Given the description of an element on the screen output the (x, y) to click on. 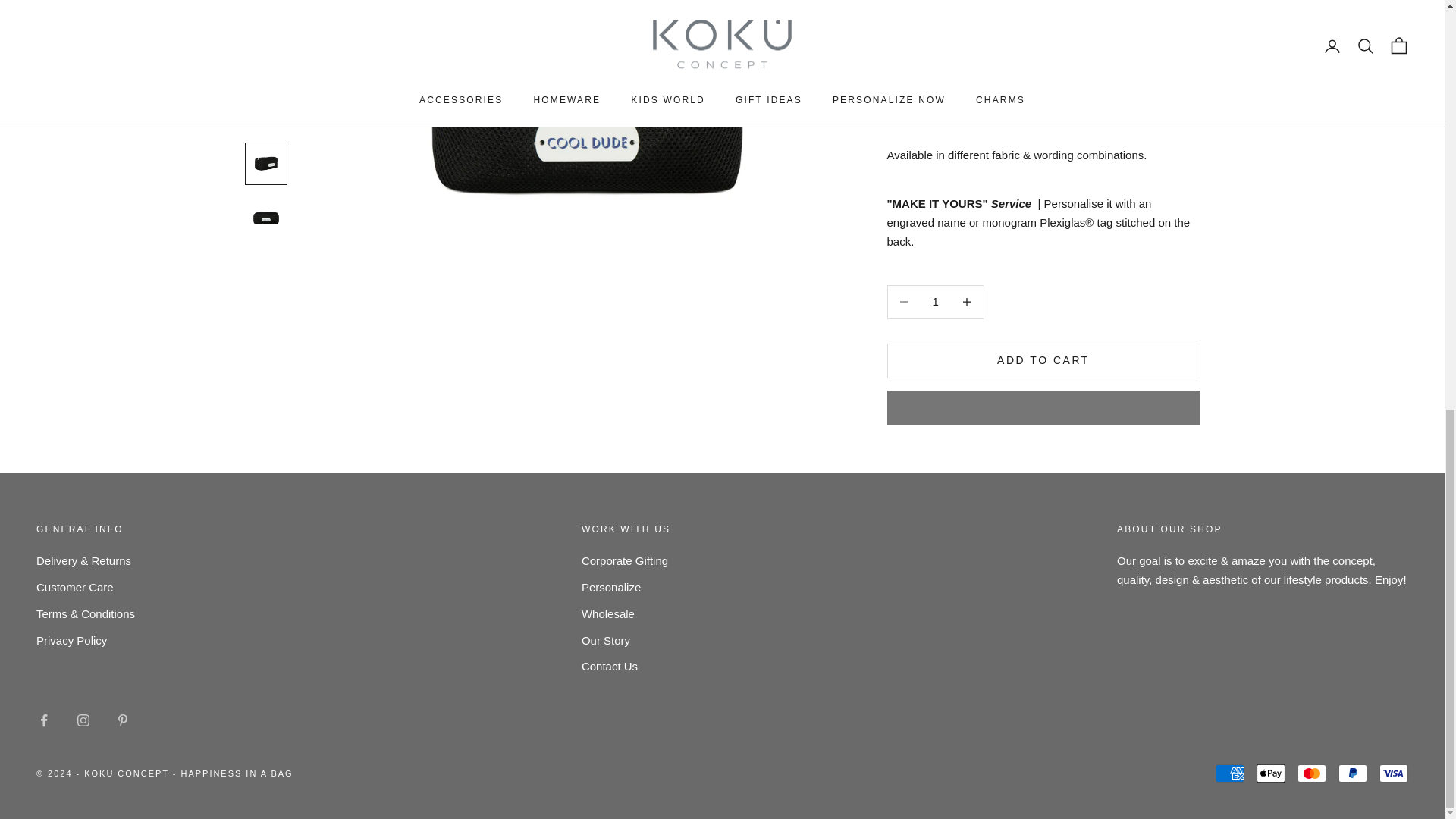
1 (935, 37)
